Given the description of an element on the screen output the (x, y) to click on. 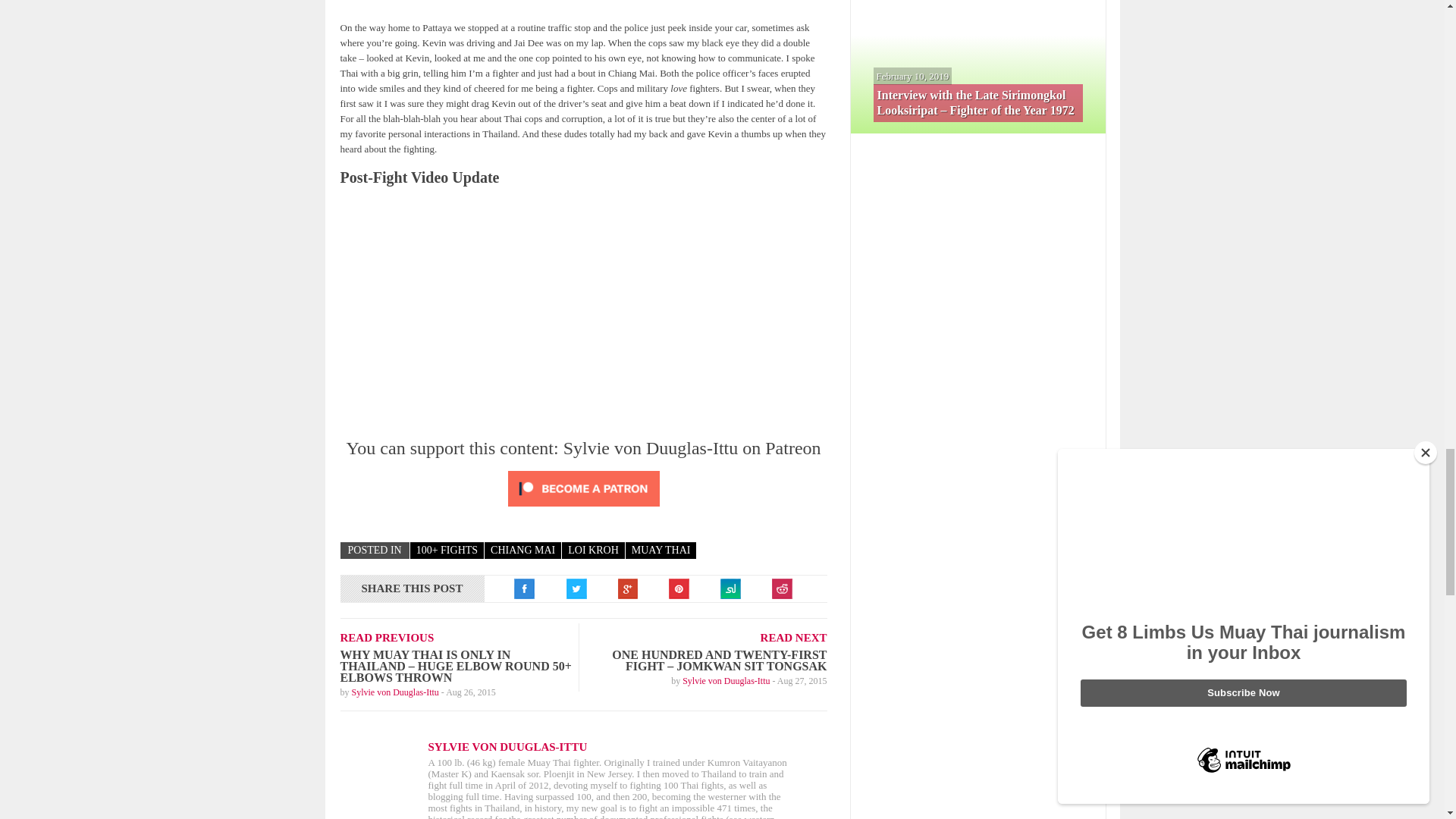
CHIANG MAI (522, 550)
